Given the description of an element on the screen output the (x, y) to click on. 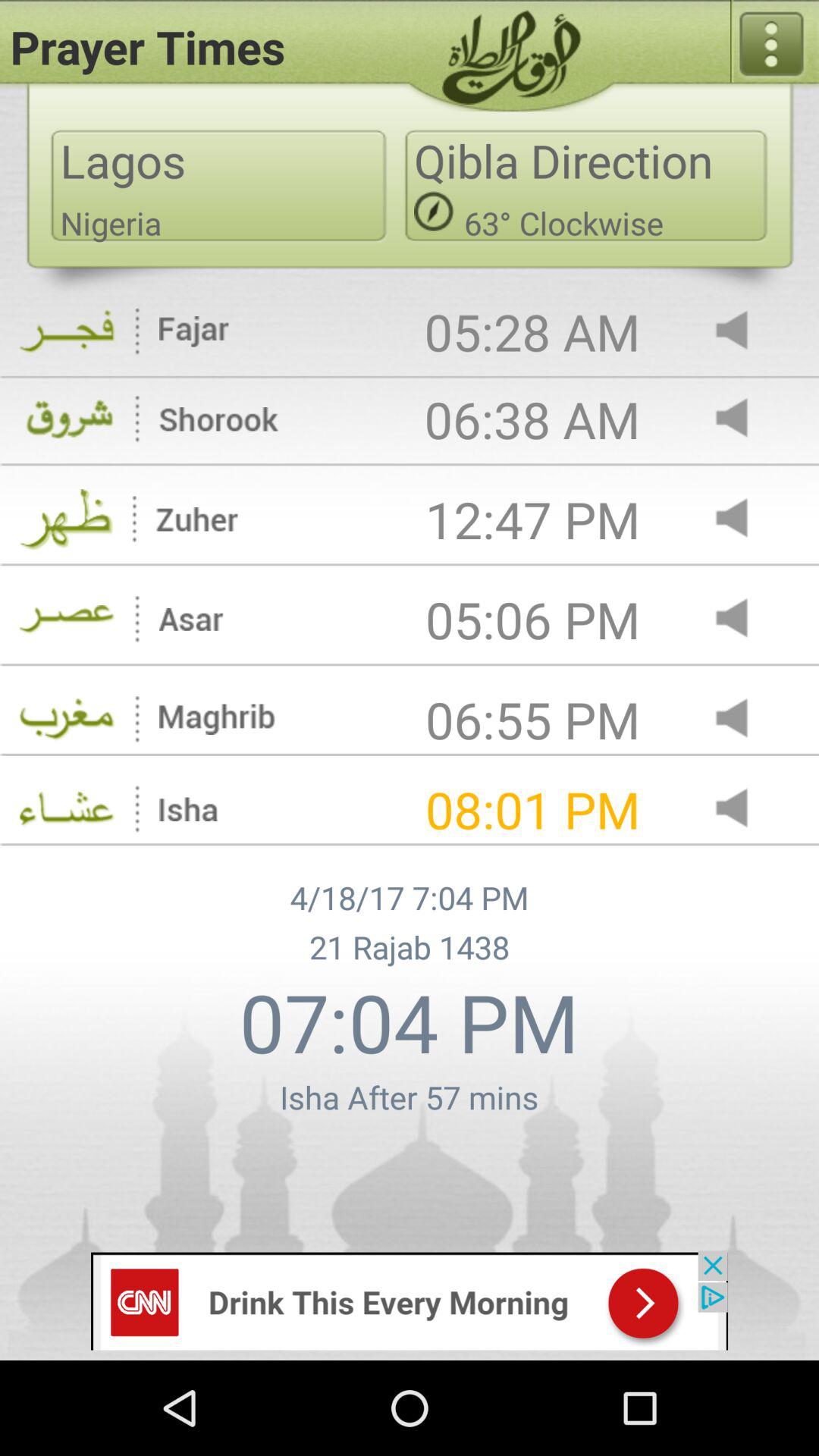
turn sound on for alert (744, 419)
